Given the description of an element on the screen output the (x, y) to click on. 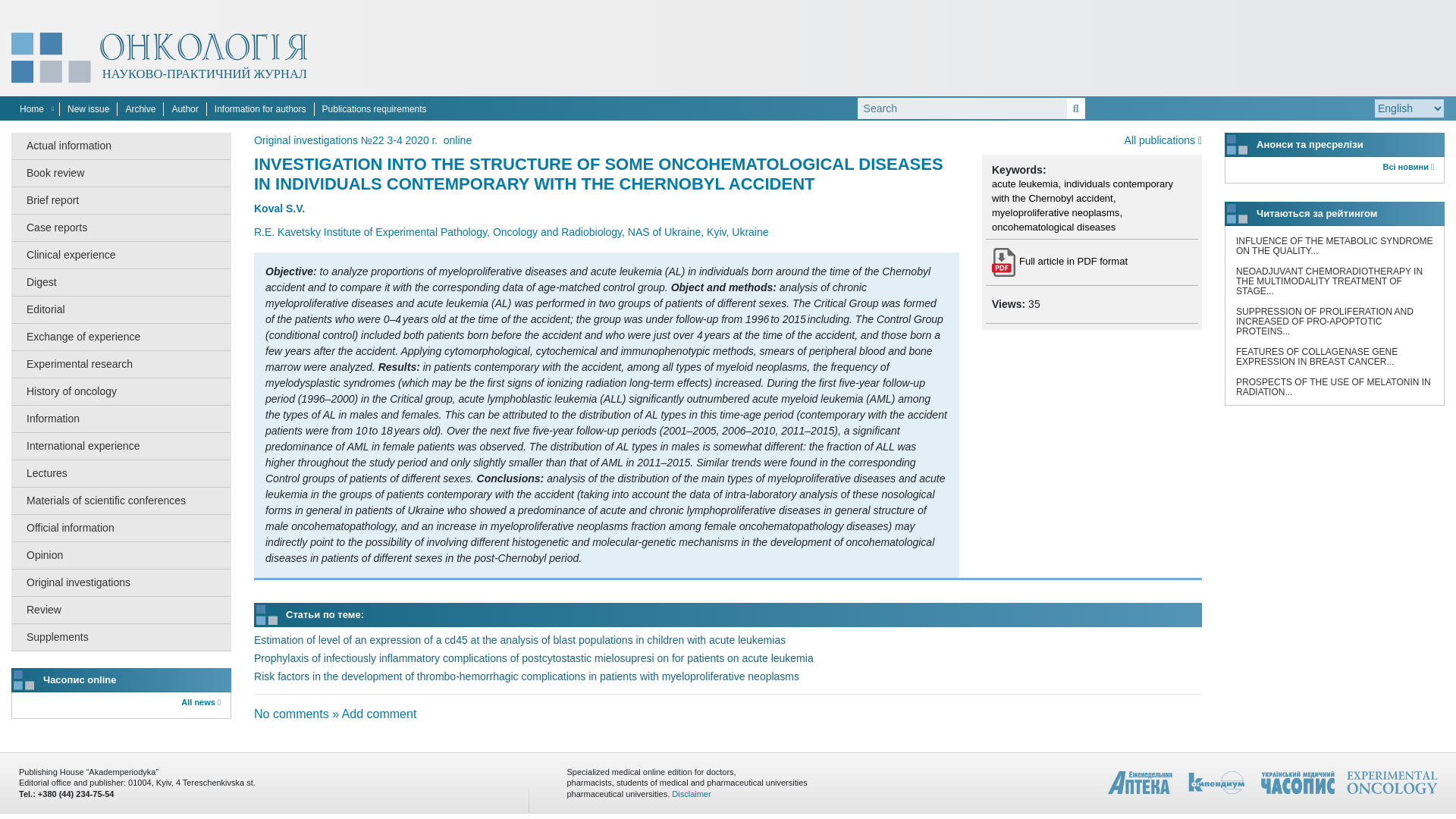
View all entries in the categoryonline (457, 140)
Editorial (121, 309)
Brief report (121, 200)
Information (121, 419)
new issue (87, 109)
information for authors (260, 109)
Digest (121, 282)
Clinical experience (121, 255)
Experimental research (121, 364)
All publications (1163, 140)
Official information (121, 528)
online (457, 140)
Materials of scientific conferences (121, 501)
acute leukemia (1024, 183)
